Given the description of an element on the screen output the (x, y) to click on. 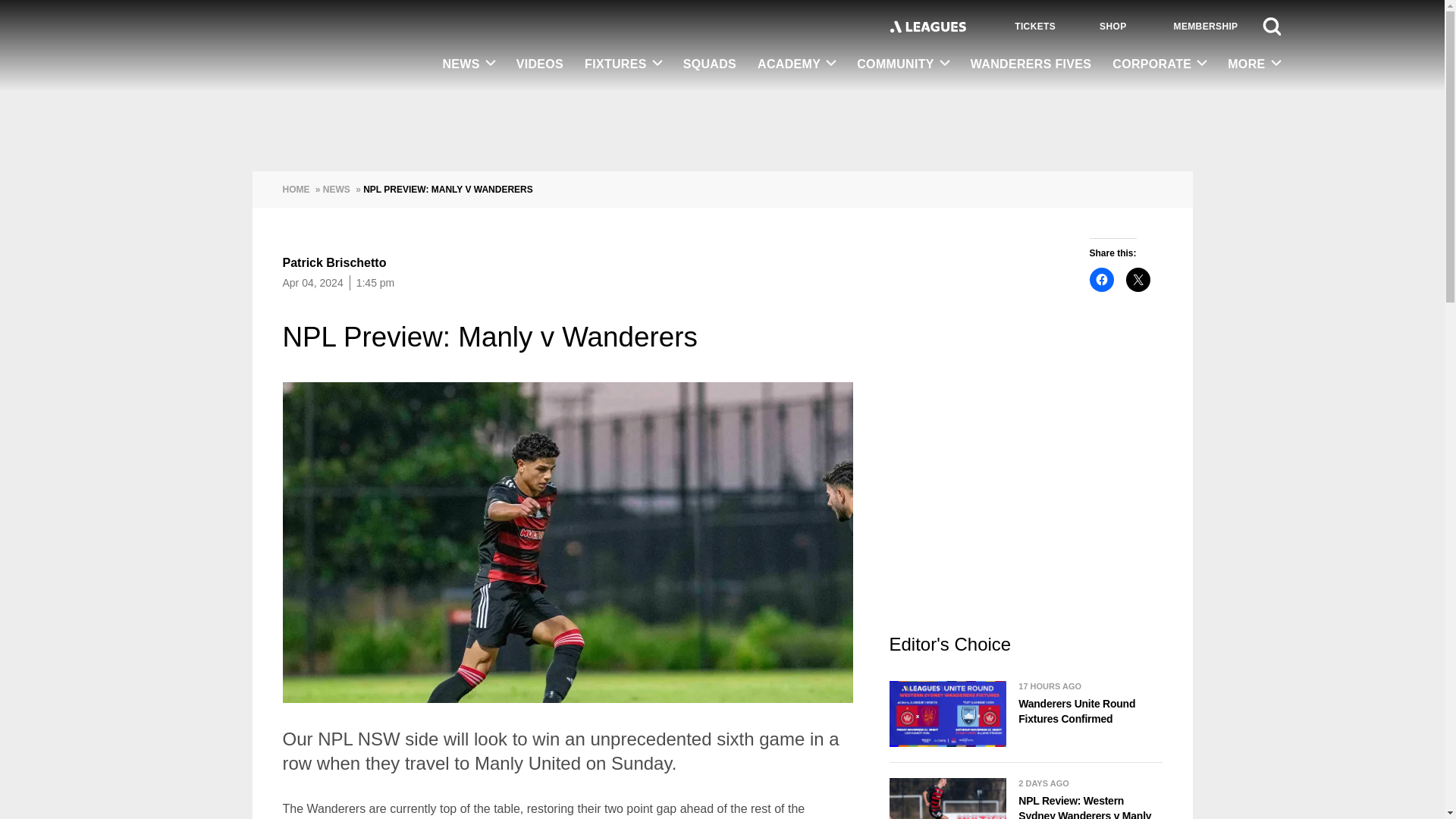
Click to share on X (1137, 279)
Click to share on Facebook (1101, 279)
SQUADS (709, 65)
FIXTURES (622, 64)
NEWS (467, 64)
COMMUNITY (902, 64)
ACADEMY (795, 64)
WANDERERS FIVES (1030, 65)
3rd party ad content (1024, 506)
VIDEOS (539, 65)
